Given the description of an element on the screen output the (x, y) to click on. 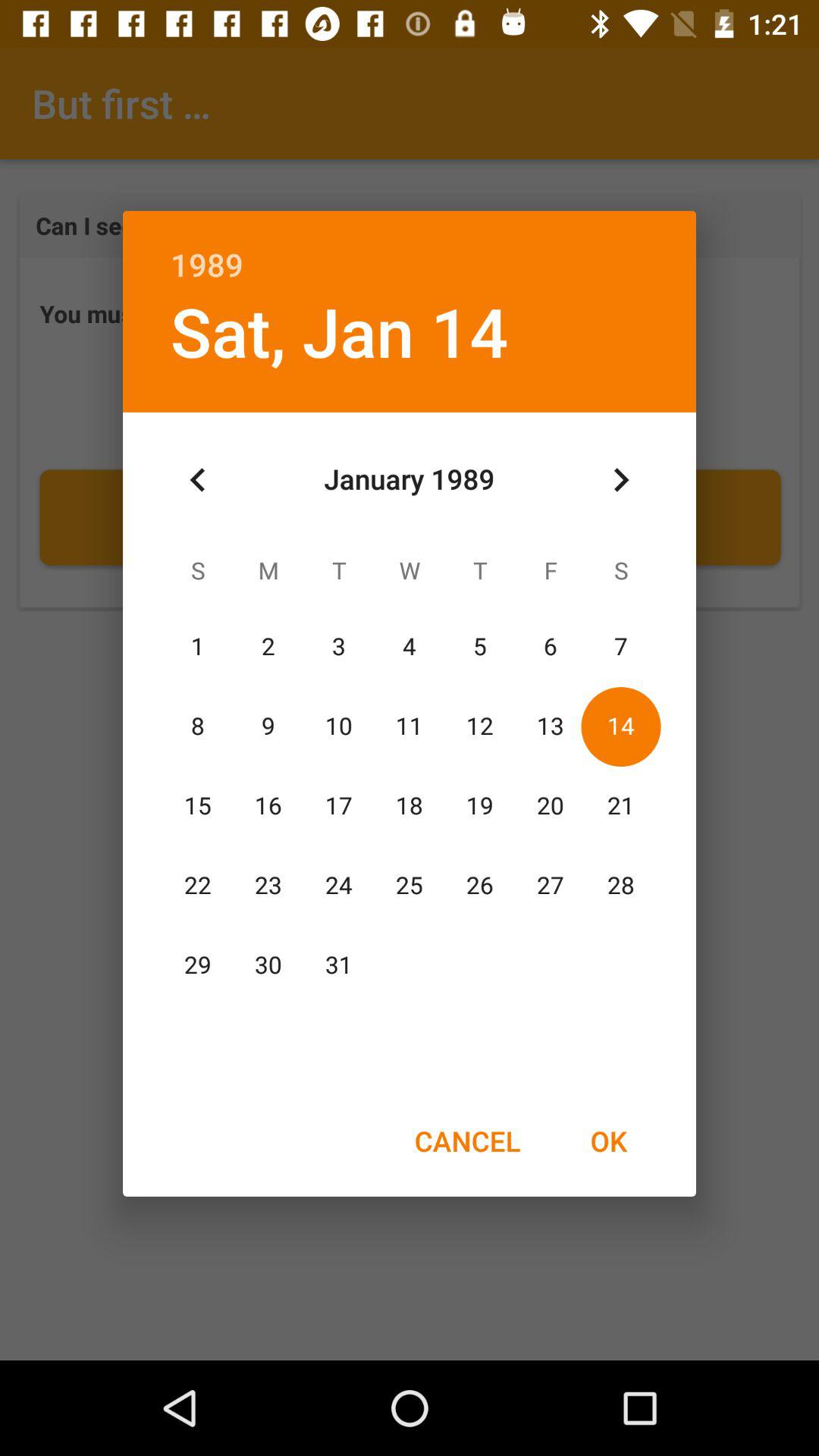
open item to the right of the cancel item (608, 1140)
